Given the description of an element on the screen output the (x, y) to click on. 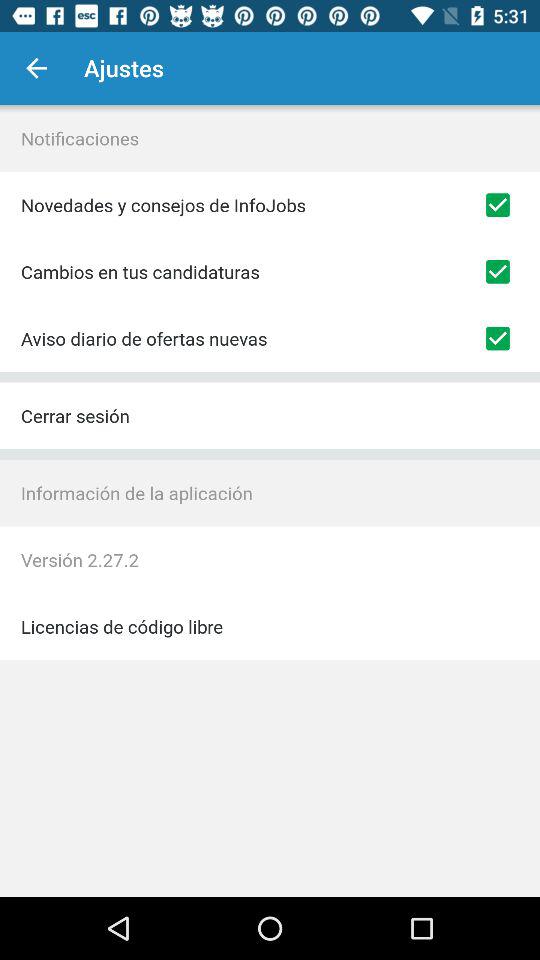
allow notifications selection button (498, 205)
